Given the description of an element on the screen output the (x, y) to click on. 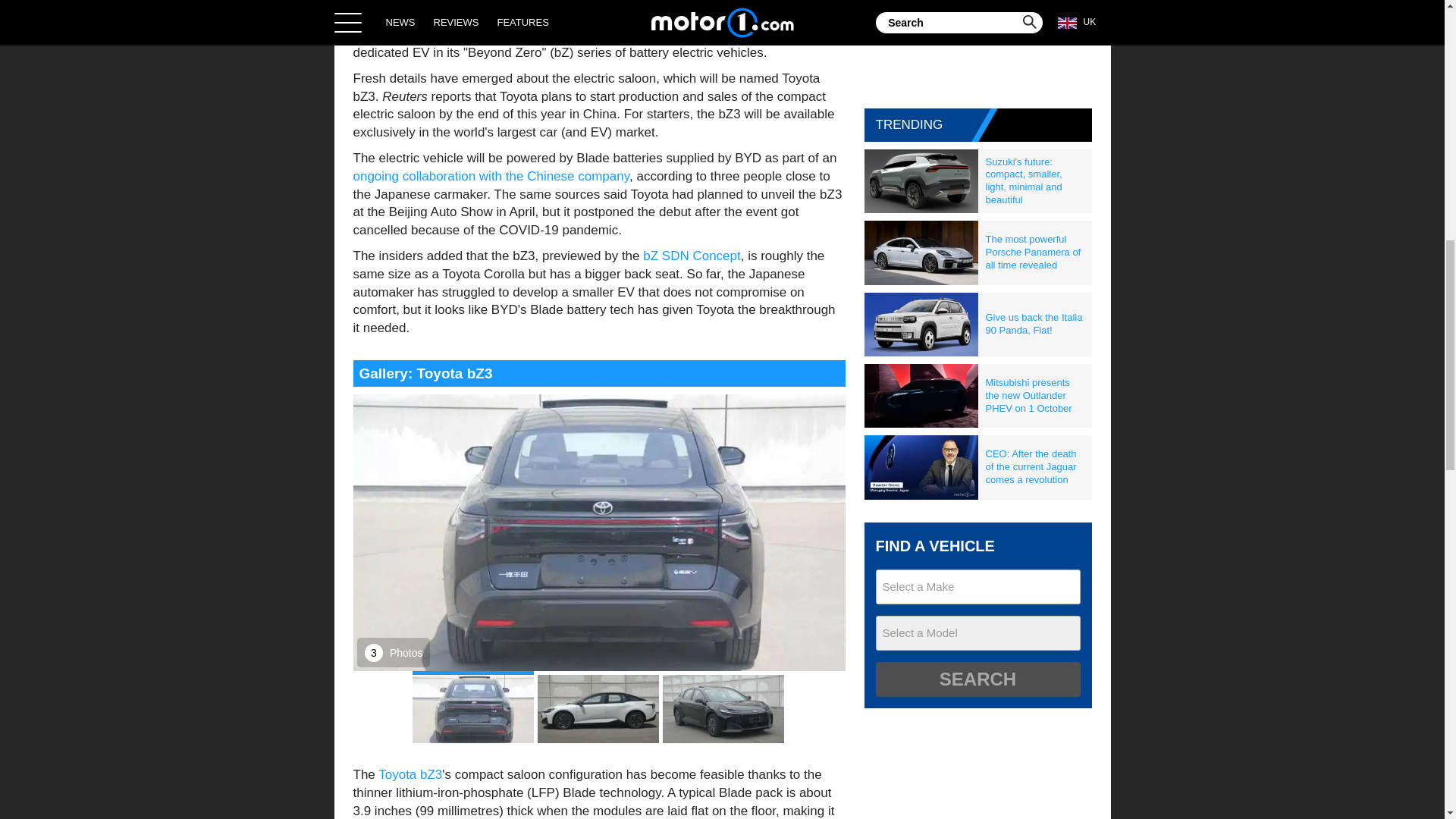
Toyota bZ3 (410, 774)
ongoing collaboration with the Chinese company (490, 175)
Search (977, 678)
bZ SDN Concept (692, 255)
